Given the description of an element on the screen output the (x, y) to click on. 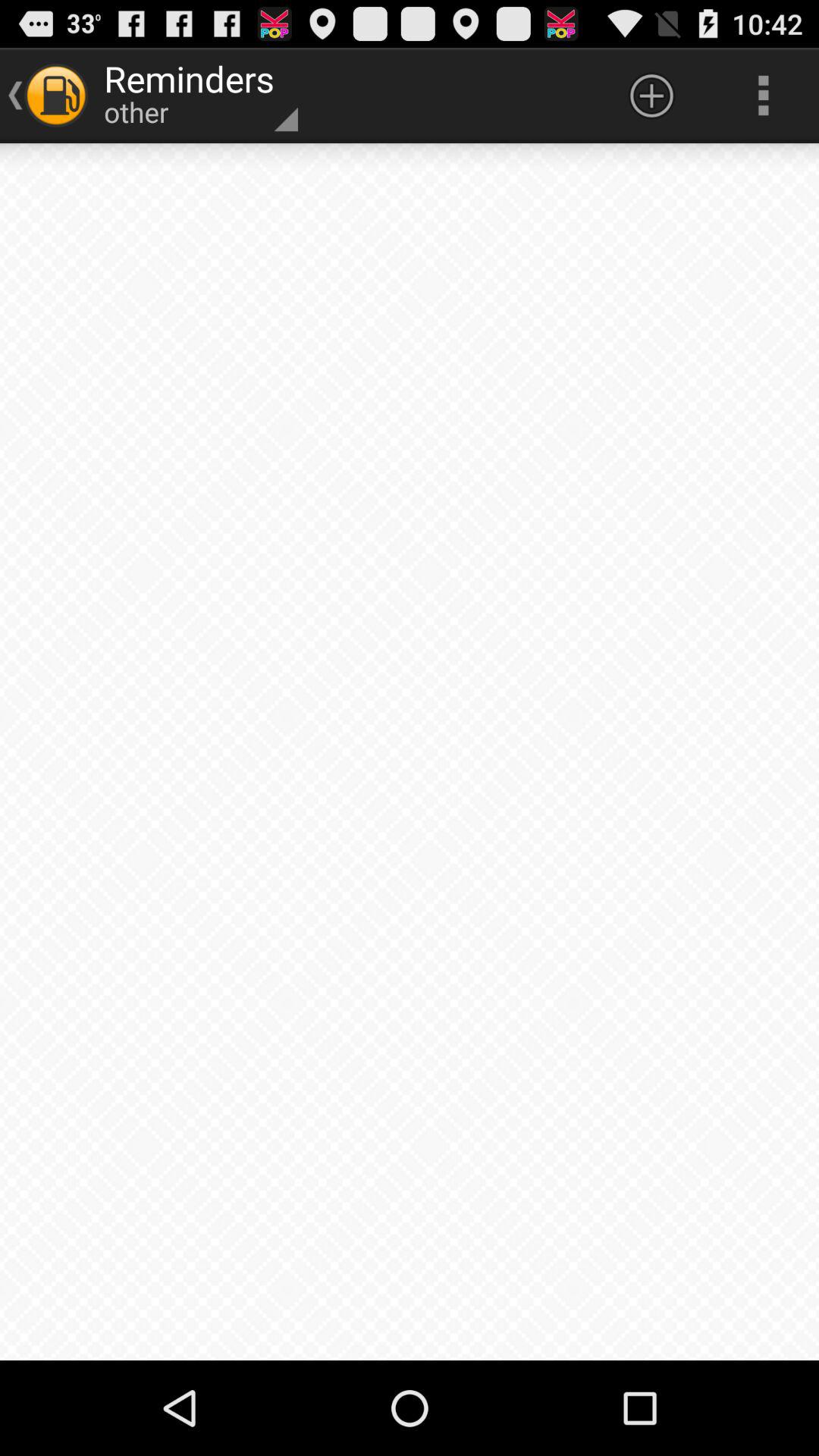
click item at the center (409, 751)
